Given the description of an element on the screen output the (x, y) to click on. 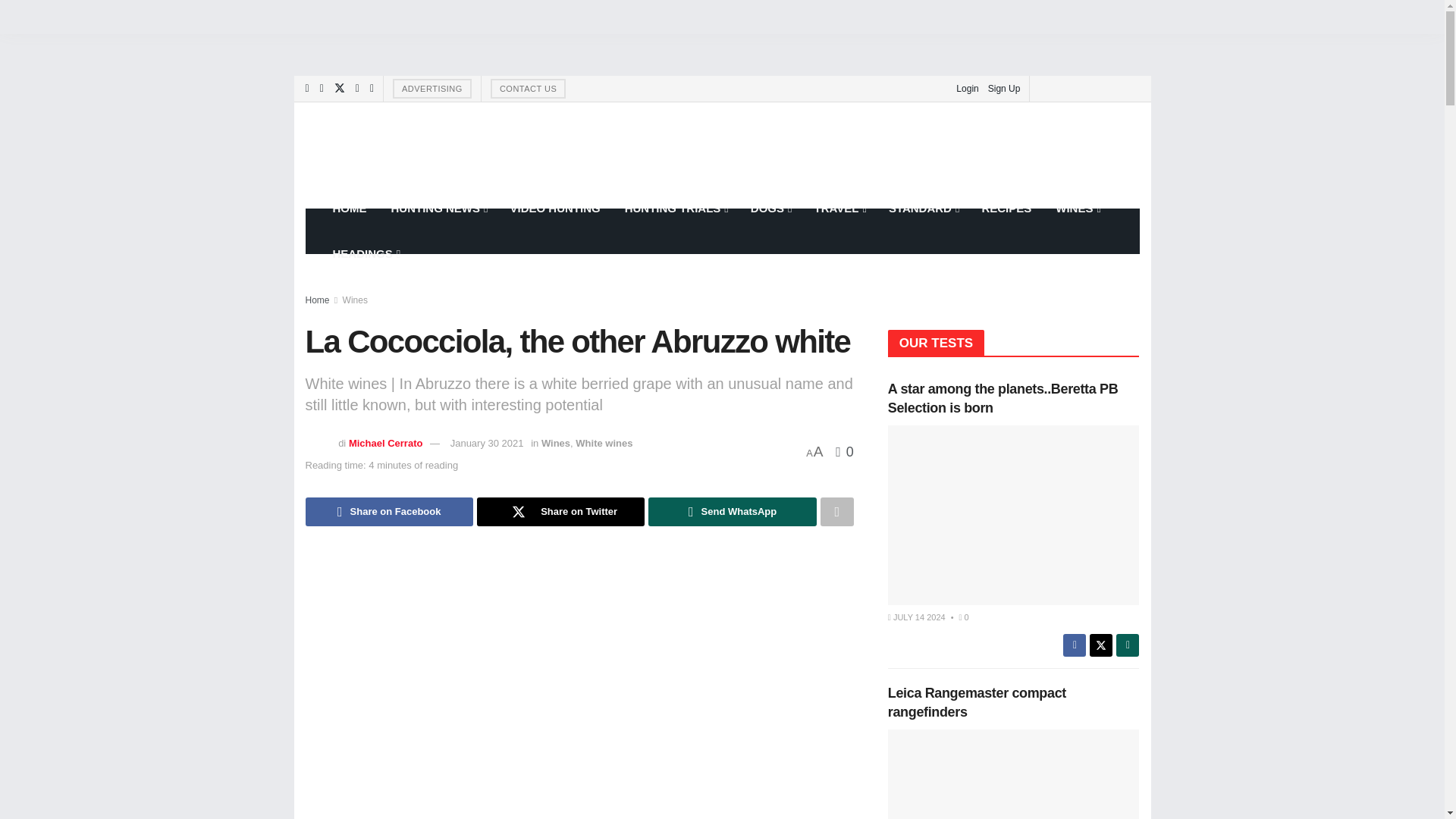
VIDEO HUNTING (554, 207)
Sign Up (1004, 88)
Hunting video. Videos and films of hunting and hunting (554, 207)
HUNTING TRIALS (675, 207)
DOGS (770, 207)
ADVERTISING (432, 88)
HOME (349, 207)
CONTACT US (528, 88)
HUNTING NEWS (437, 207)
